Given the description of an element on the screen output the (x, y) to click on. 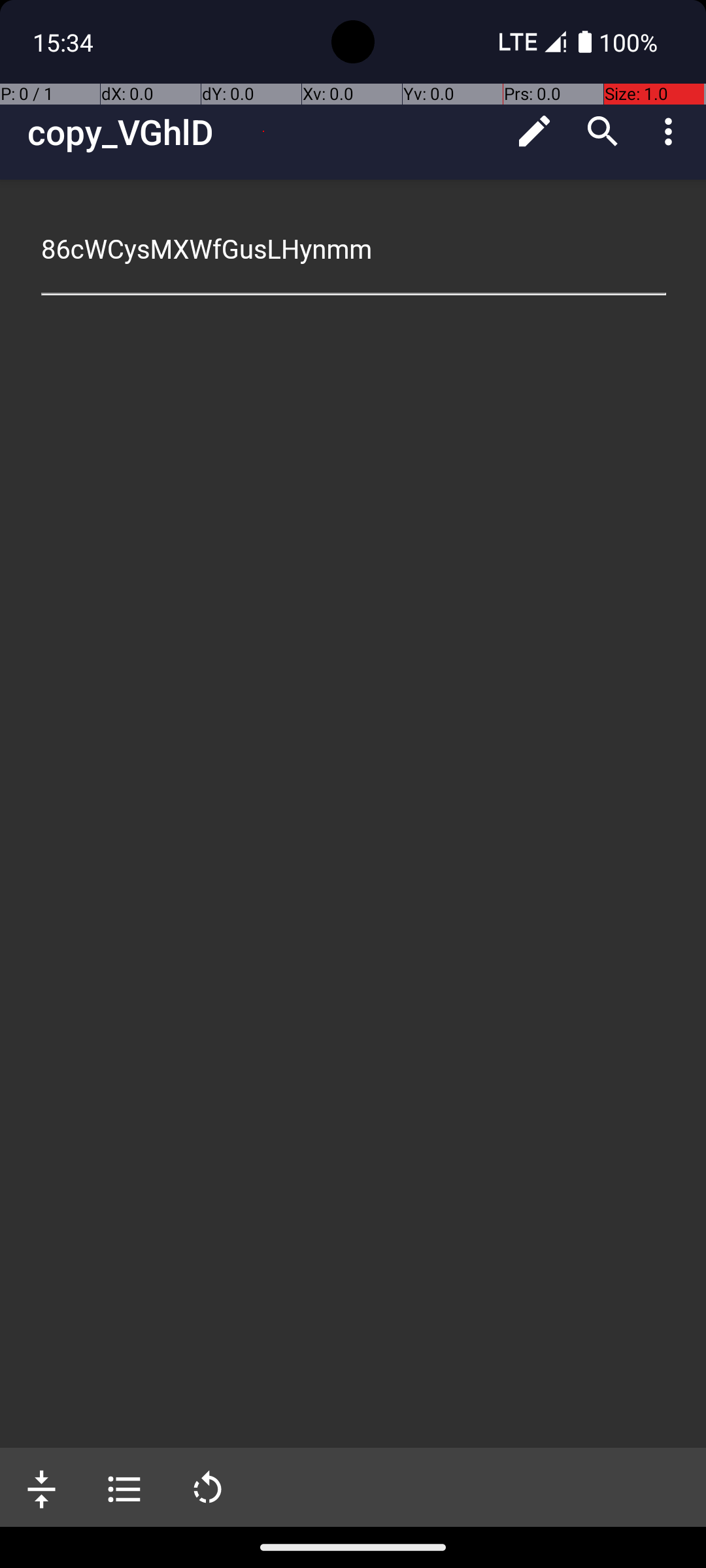
copy_VGhlD Element type: android.widget.TextView (263, 131)
86cWCysMXWfGusLHynmm Element type: android.widget.TextView (354, 249)
